Given the description of an element on the screen output the (x, y) to click on. 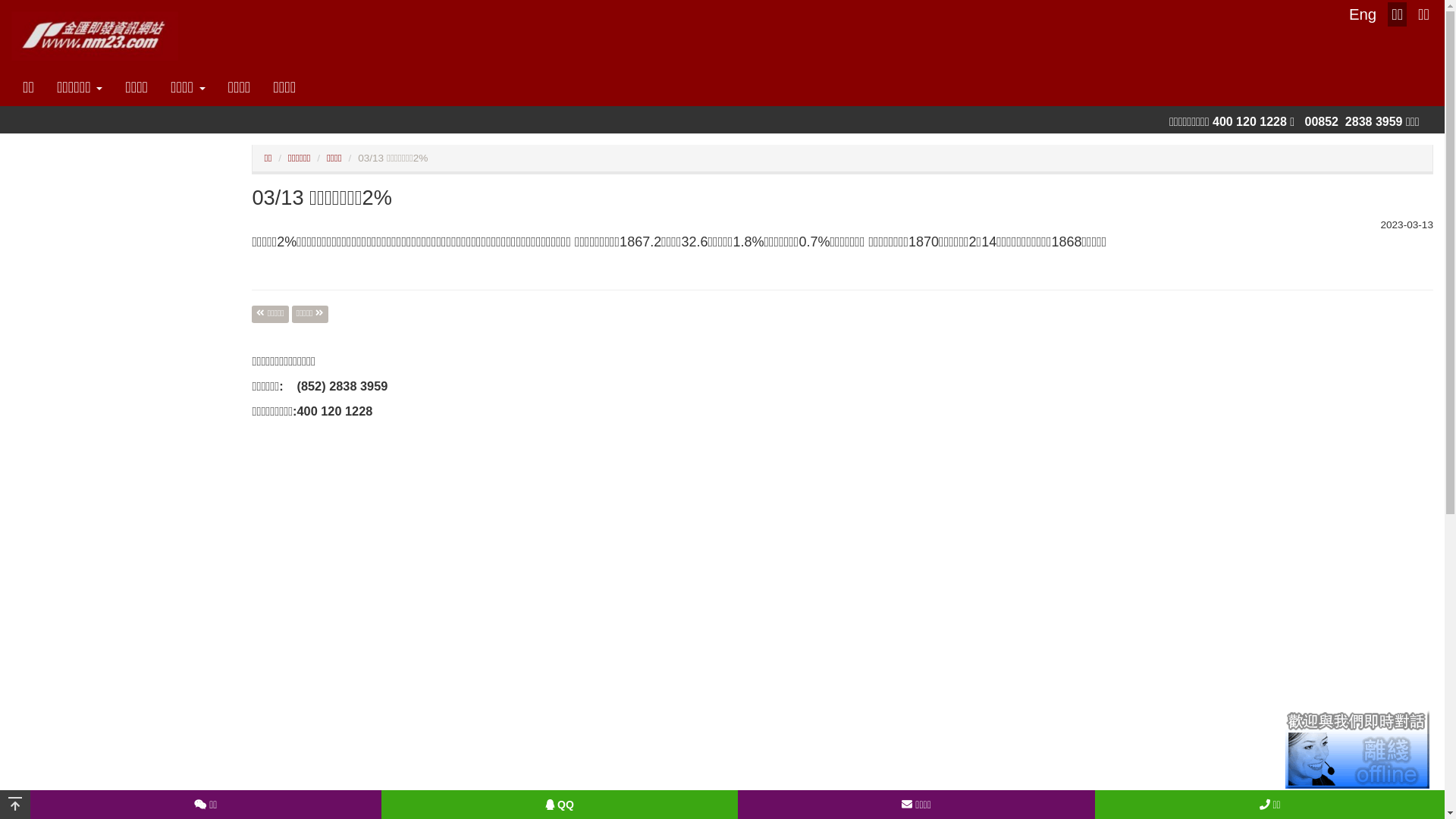
Eng Element type: text (1362, 14)
